Given the description of an element on the screen output the (x, y) to click on. 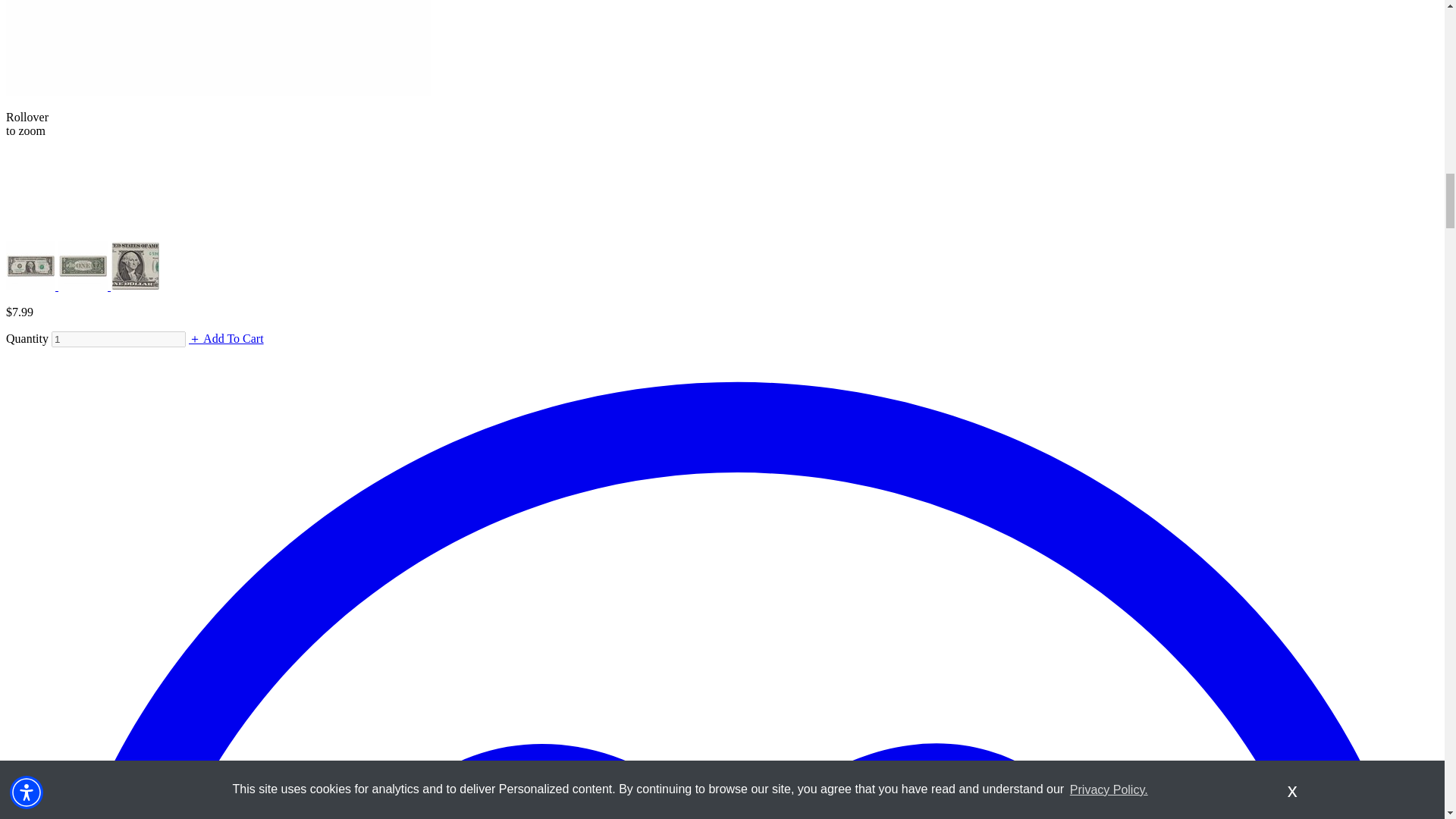
1 (118, 339)
